Given the description of an element on the screen output the (x, y) to click on. 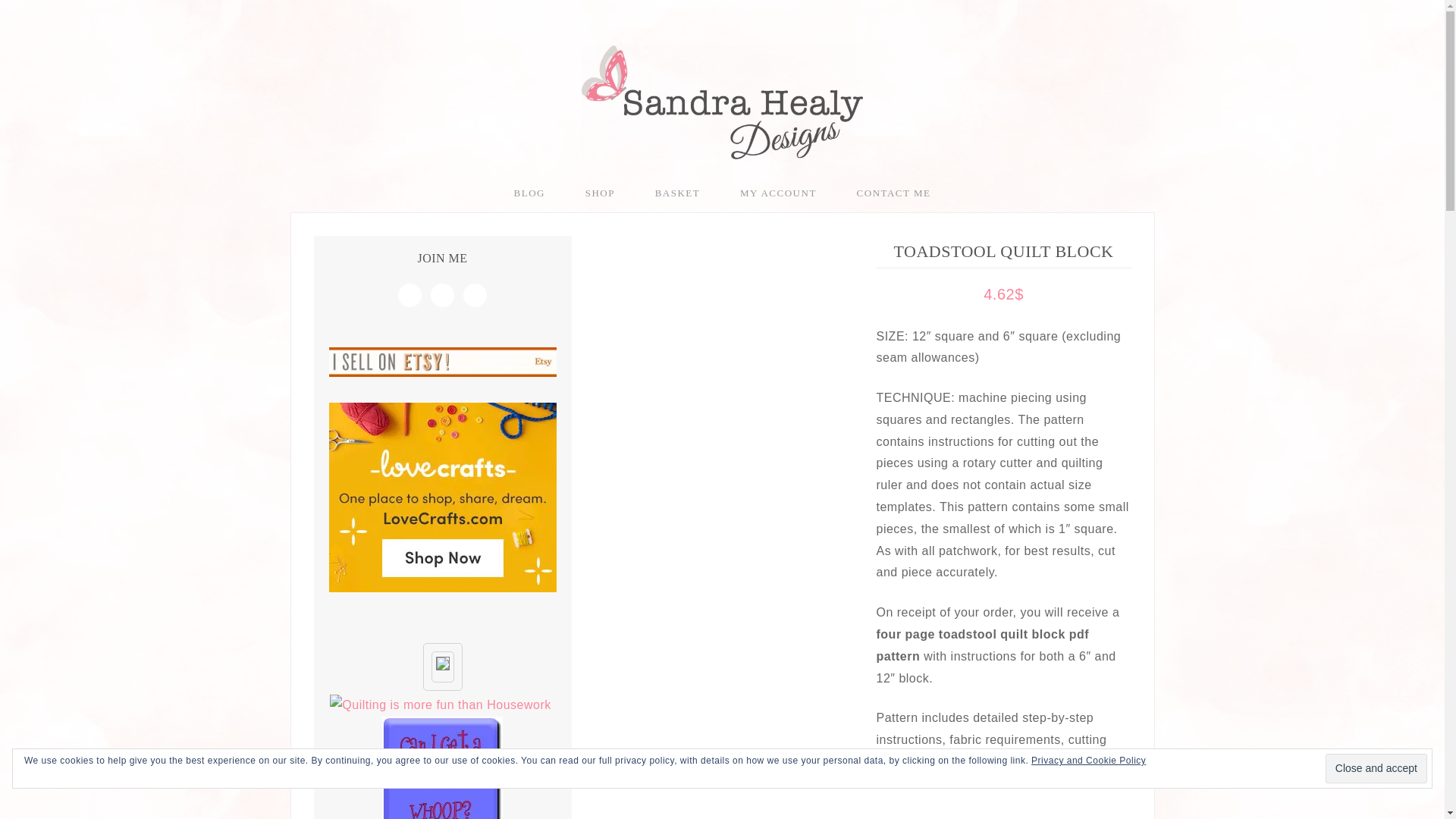
LoveCrafts (442, 497)
Close and accept (1375, 767)
SHOP (600, 193)
BASKET (678, 193)
SANDRA HEALY DESIGNS QUILT PATTERN DESIGNER (721, 101)
Please select your currency (906, 818)
CONTACT ME (893, 193)
MY ACCOUNT (778, 193)
BLOG (529, 193)
